Given the description of an element on the screen output the (x, y) to click on. 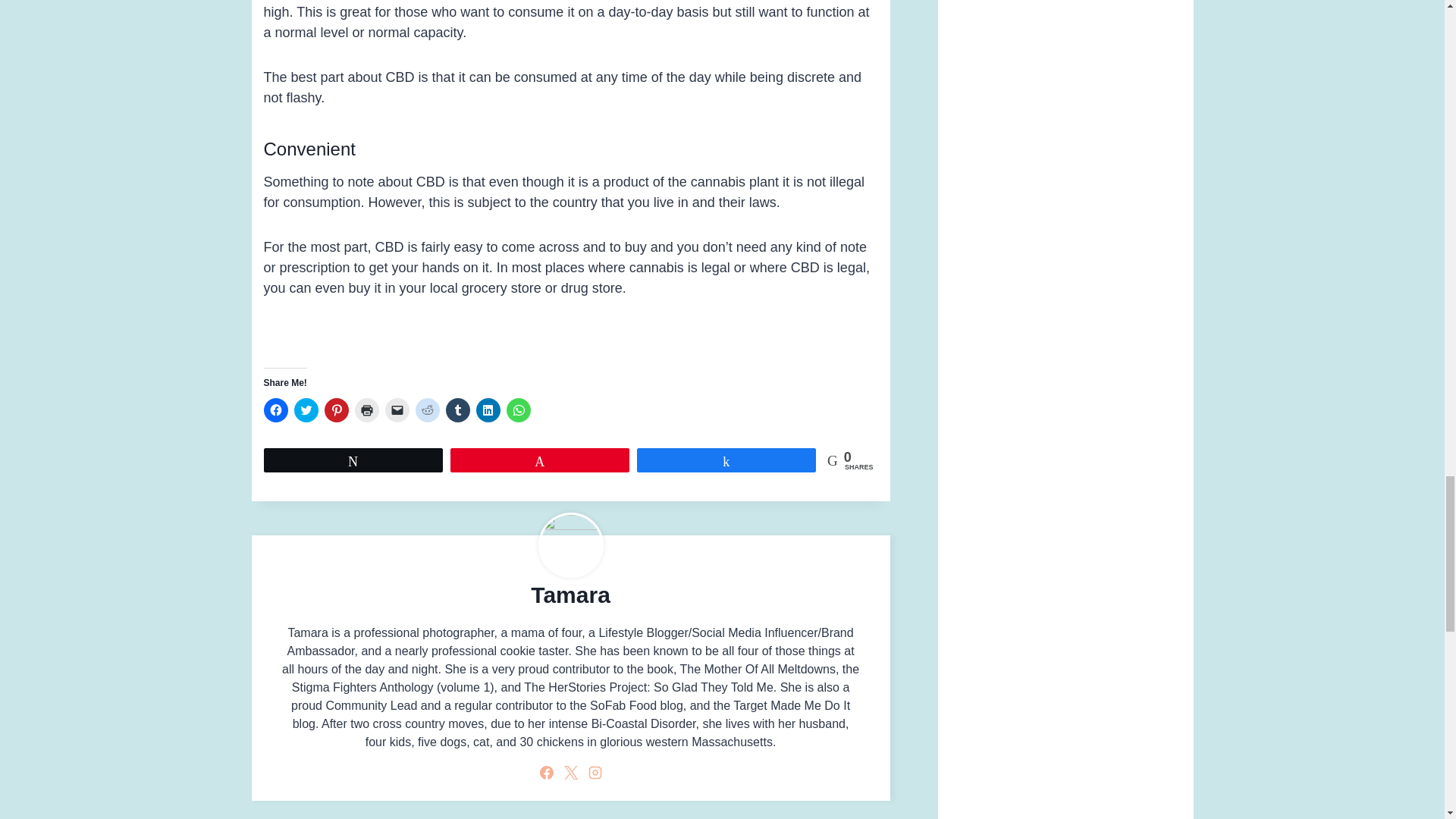
Click to share on Pinterest (336, 410)
Click to share on LinkedIn (488, 410)
Click to email a link to a friend (397, 410)
Follow Tamara on Instagram (595, 772)
Follow Tamara on X formerly Twitter (570, 772)
Click to share on Twitter (306, 410)
Posts by Tamara (570, 594)
Click to share on Facebook (275, 410)
Click to print (366, 410)
Follow Tamara on Facebook (545, 772)
Click to share on WhatsApp (518, 410)
Click to share on Tumblr (457, 410)
Click to share on Reddit (426, 410)
